Given the description of an element on the screen output the (x, y) to click on. 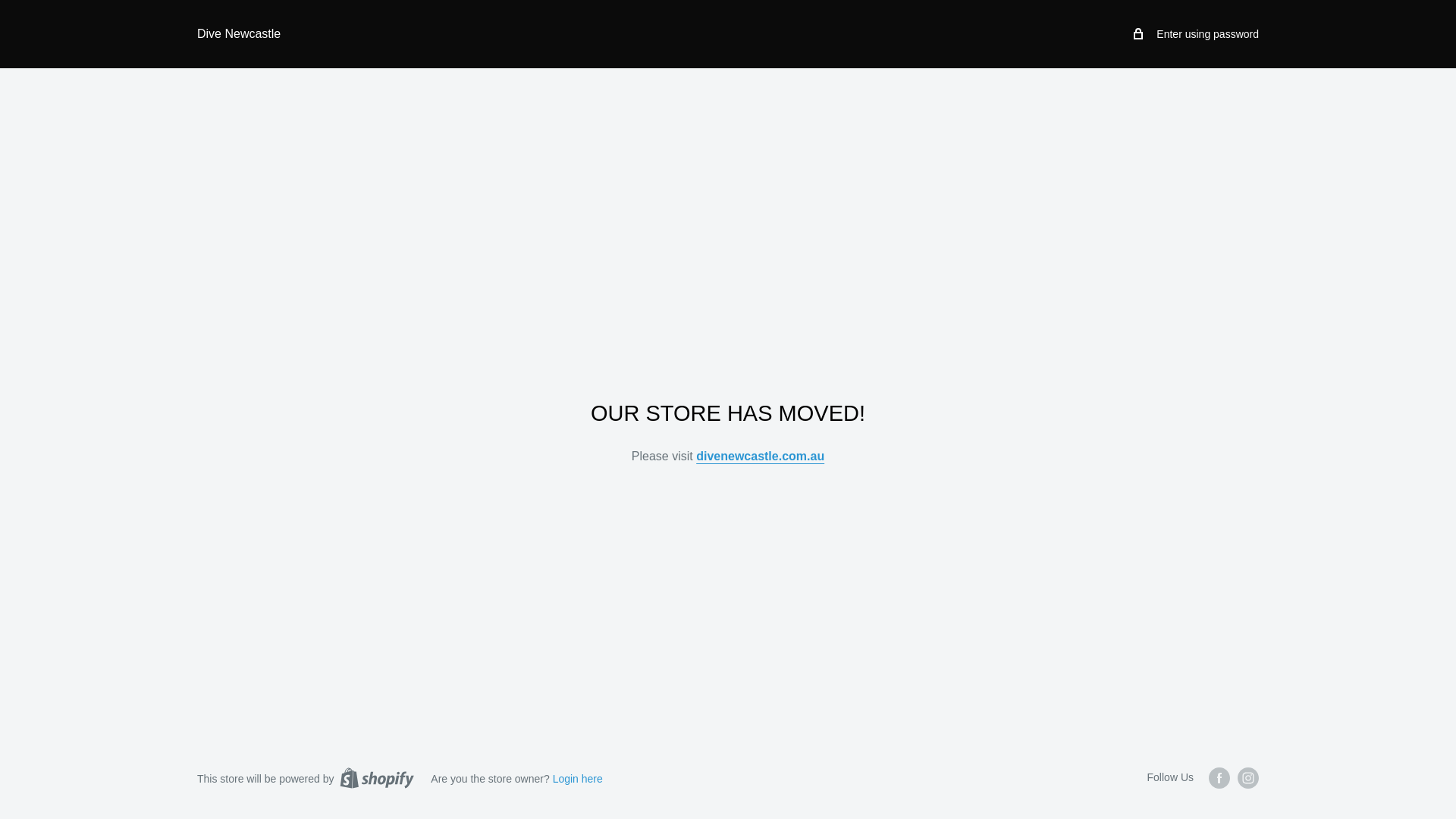
Create your own online store with Shopify Element type: hover (376, 777)
divenewcastle.com.au Element type: text (760, 455)
Login here Element type: text (577, 778)
Enter using password Element type: text (1195, 33)
Dive Newcastle Element type: text (238, 33)
